Given the description of an element on the screen output the (x, y) to click on. 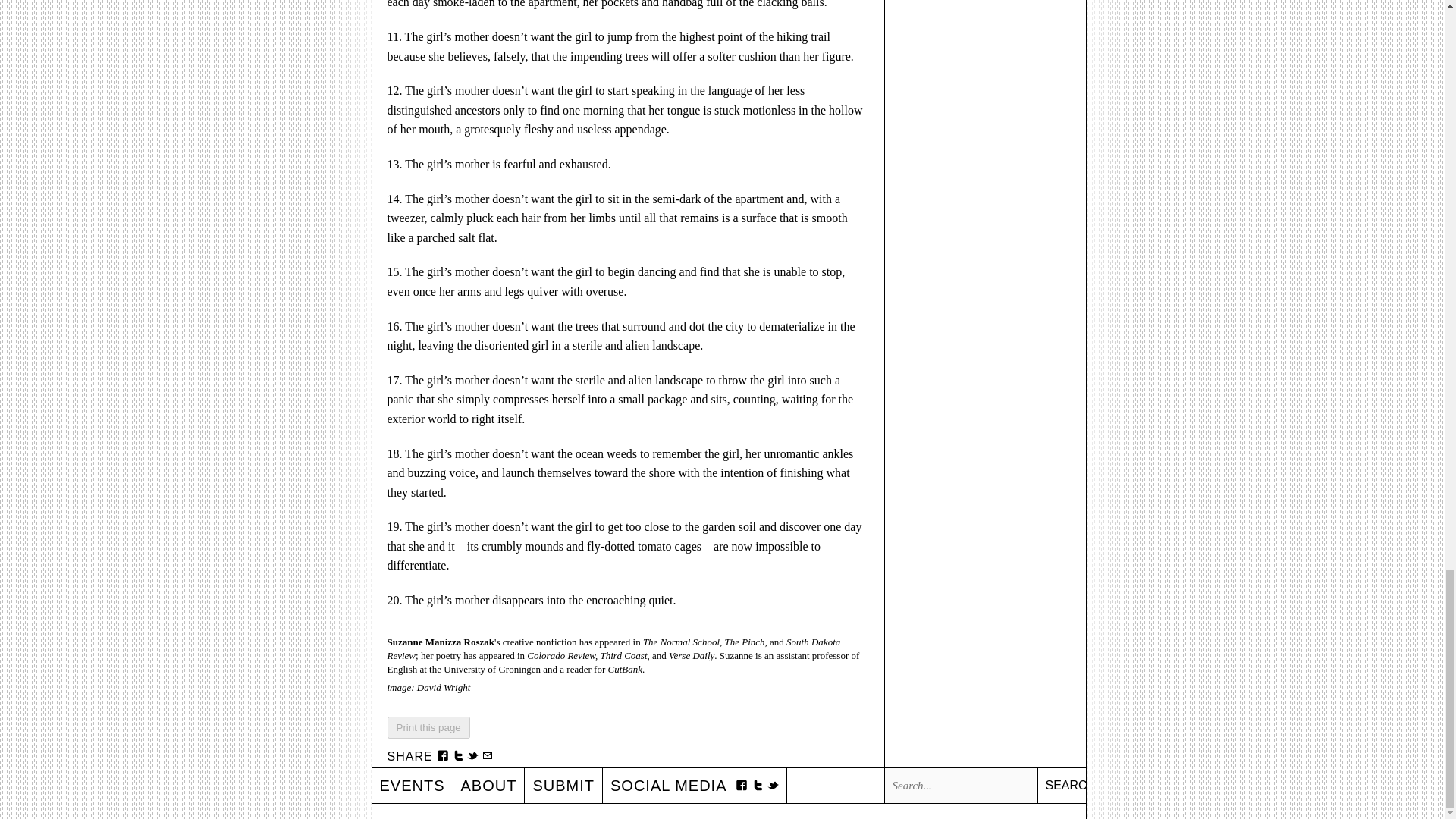
Search... (959, 785)
SEARCH (1061, 785)
David Wright (443, 686)
Print this page (427, 727)
